Given the description of an element on the screen output the (x, y) to click on. 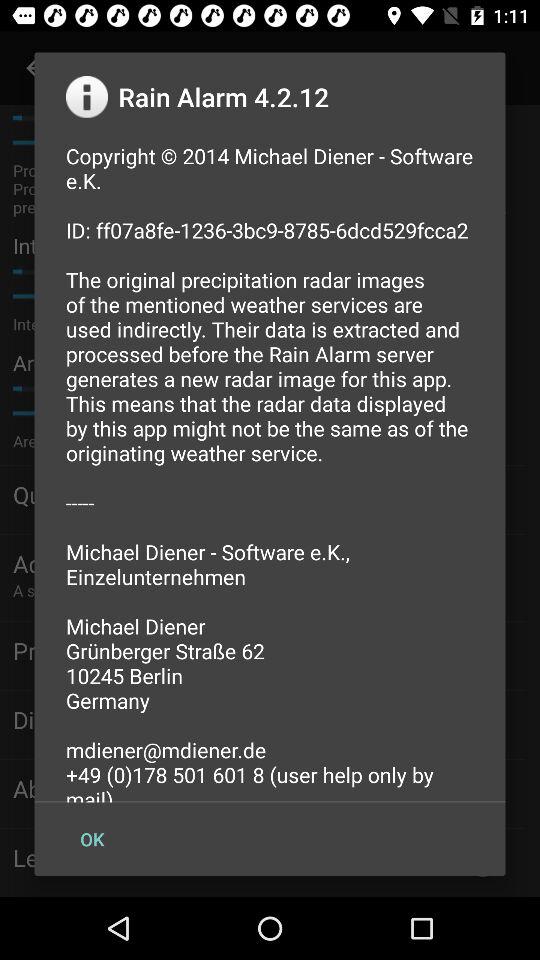
select the ok (92, 838)
